Given the description of an element on the screen output the (x, y) to click on. 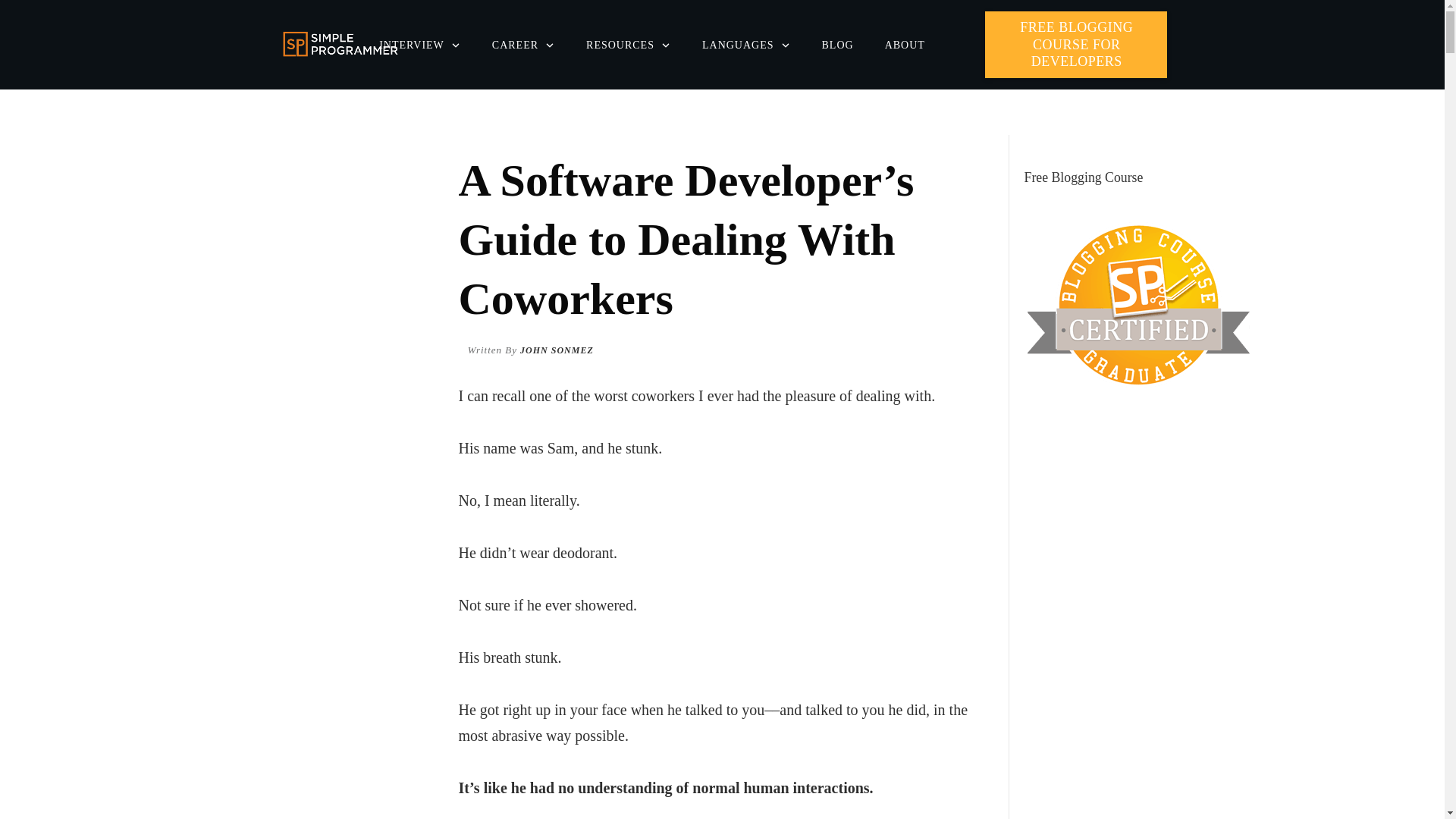
LANGUAGES (745, 45)
ABOUT (904, 45)
RESOURCES (628, 45)
BLOG (837, 45)
JOHN SONMEZ (556, 348)
CAREER (523, 45)
FREE BLOGGING COURSE FOR DEVELOPERS (1076, 44)
John Sonmez (556, 348)
INTERVIEW (419, 45)
